Given the description of an element on the screen output the (x, y) to click on. 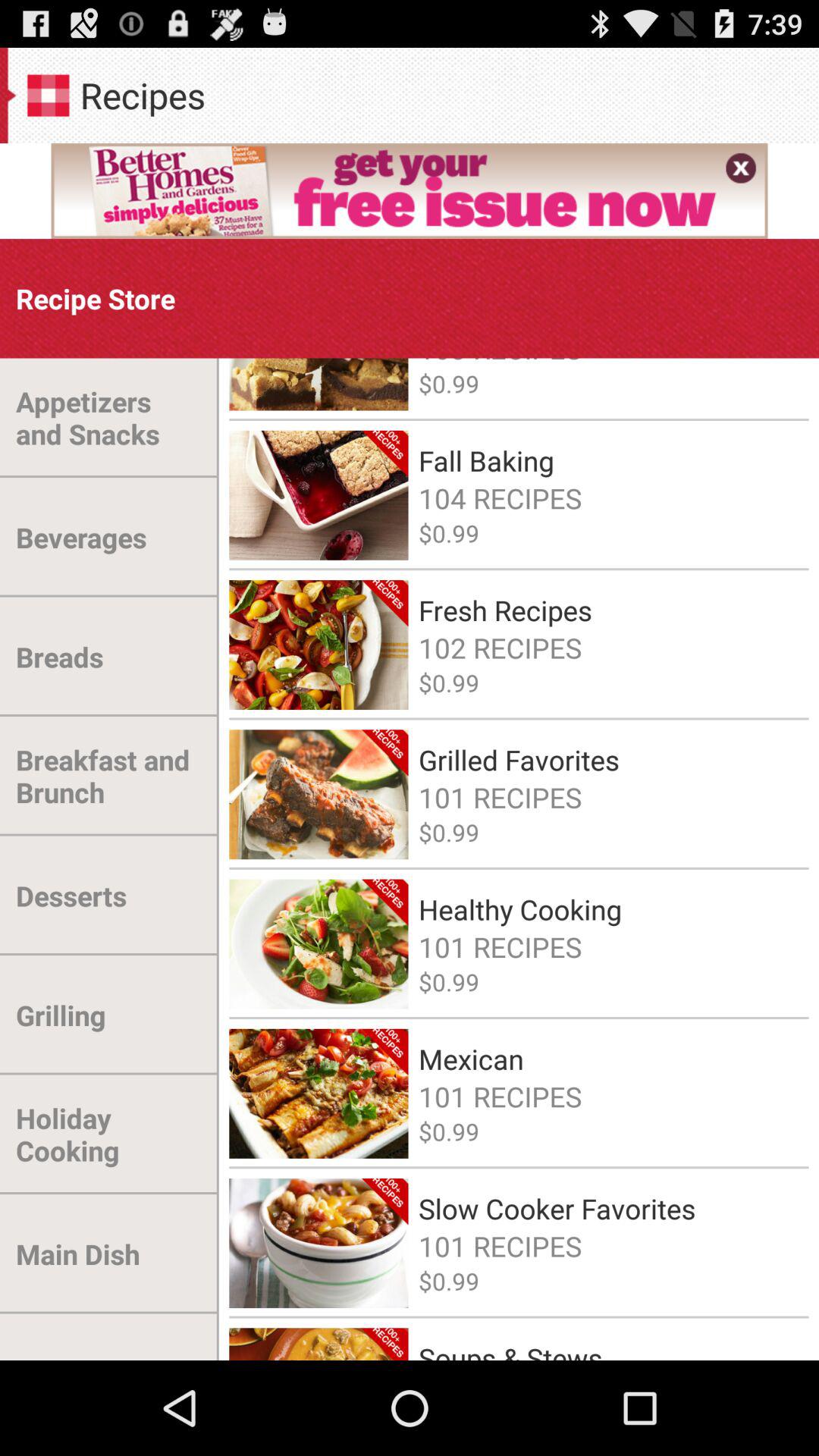
tap appetizers and snacks (109, 417)
